Given the description of an element on the screen output the (x, y) to click on. 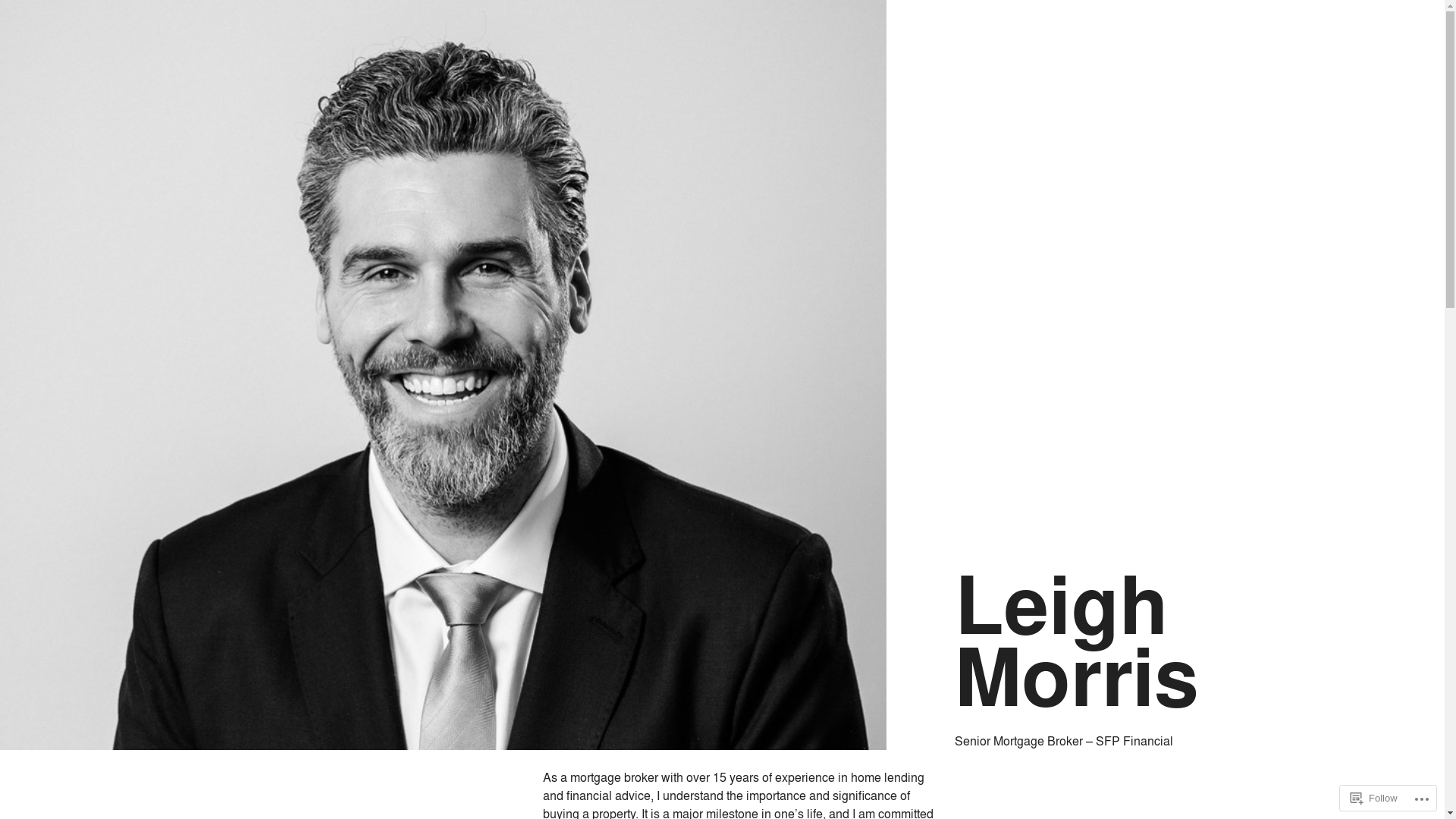
Follow Element type: text (1373, 797)
